Given the description of an element on the screen output the (x, y) to click on. 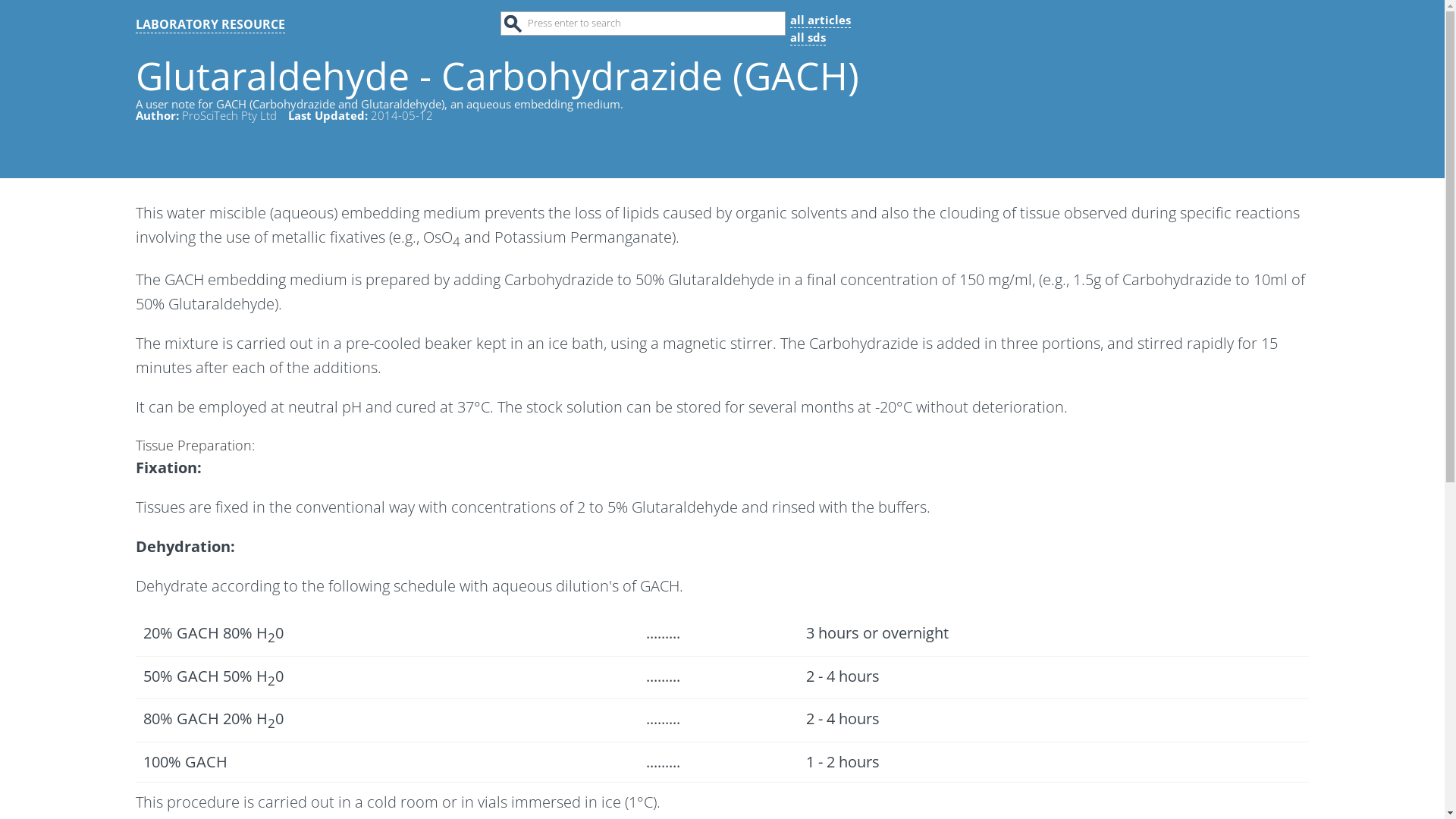
all articles Element type: text (820, 20)
all sds Element type: text (807, 36)
LABORATORY RESOURCE Element type: text (210, 24)
